Given the description of an element on the screen output the (x, y) to click on. 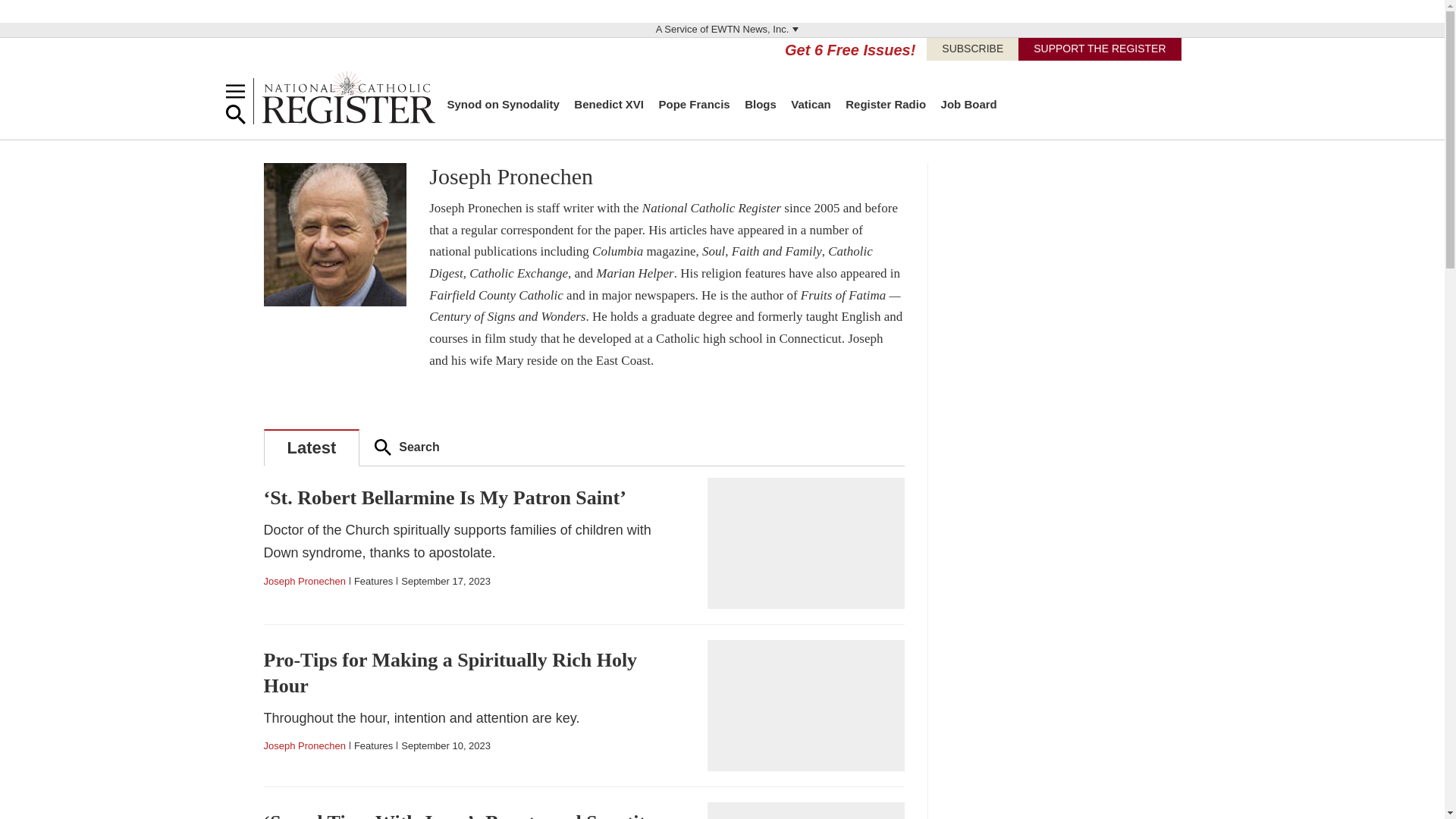
Pope Francis (693, 103)
Blogs (760, 103)
SUPPORT THE REGISTER (1098, 48)
Benedict XVI (608, 103)
Register Radio (885, 103)
SUBSCRIBE (971, 48)
Job Board (968, 103)
Synod on Synodality (502, 103)
Get 6 Free Issues! (849, 49)
